Given the description of an element on the screen output the (x, y) to click on. 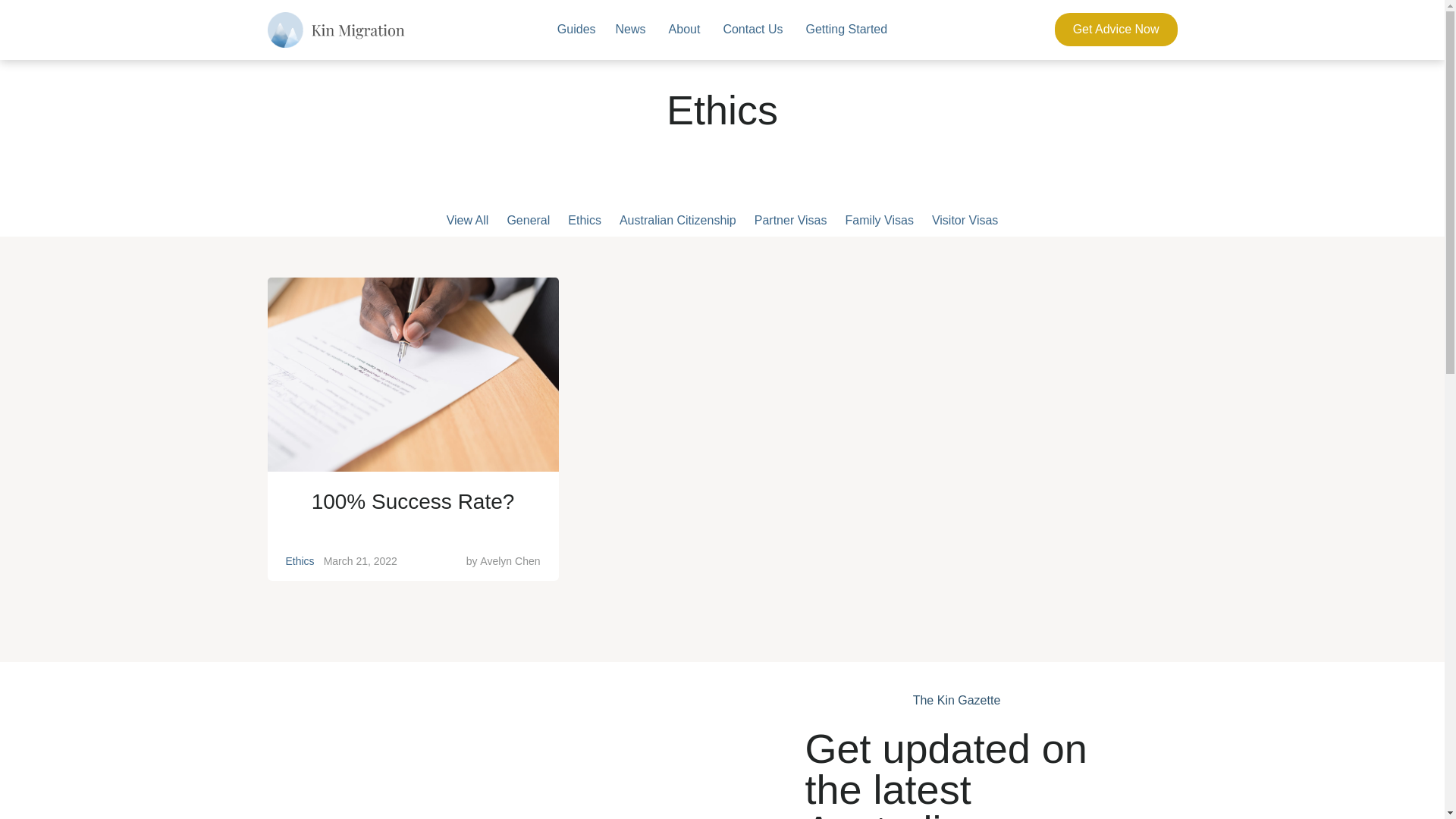
View All Element type: text (467, 220)
100% Success Rate? Element type: text (412, 506)
Visitor Visas Element type: text (964, 219)
Family Visas Element type: text (878, 219)
Ethics Element type: text (299, 560)
Partner Visas Element type: text (790, 219)
Contact Us Element type: text (752, 29)
General Element type: text (527, 219)
About Element type: text (684, 29)
Australian Citizenship Element type: text (677, 219)
Get Advice Now Element type: text (1115, 29)
Getting Started Element type: text (847, 29)
Ethics Element type: text (584, 219)
News Element type: text (630, 29)
